Given the description of an element on the screen output the (x, y) to click on. 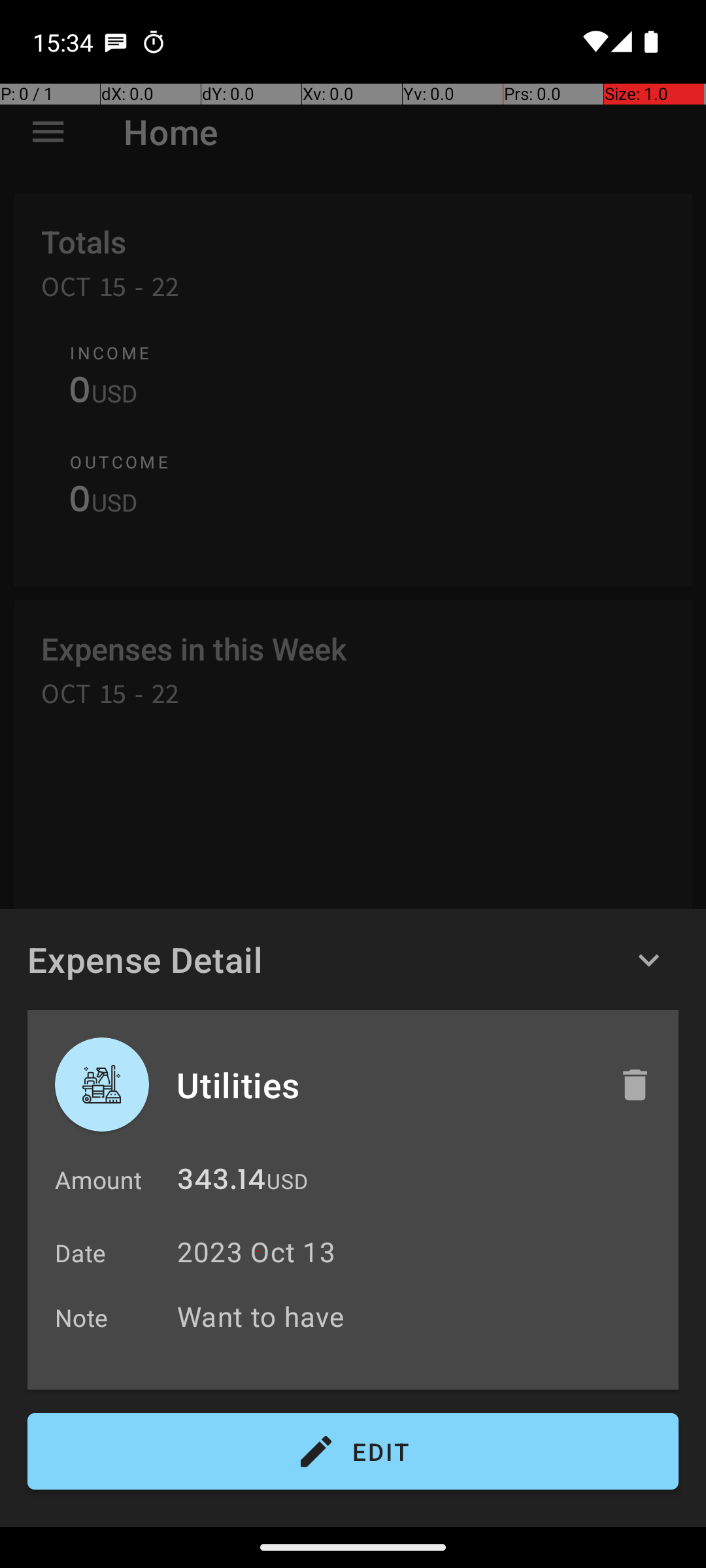
Utilities Element type: android.widget.TextView (383, 1084)
343.14 Element type: android.widget.TextView (221, 1182)
SMS Messenger notification: Emily Ibrahim Element type: android.widget.ImageView (115, 41)
